Given the description of an element on the screen output the (x, y) to click on. 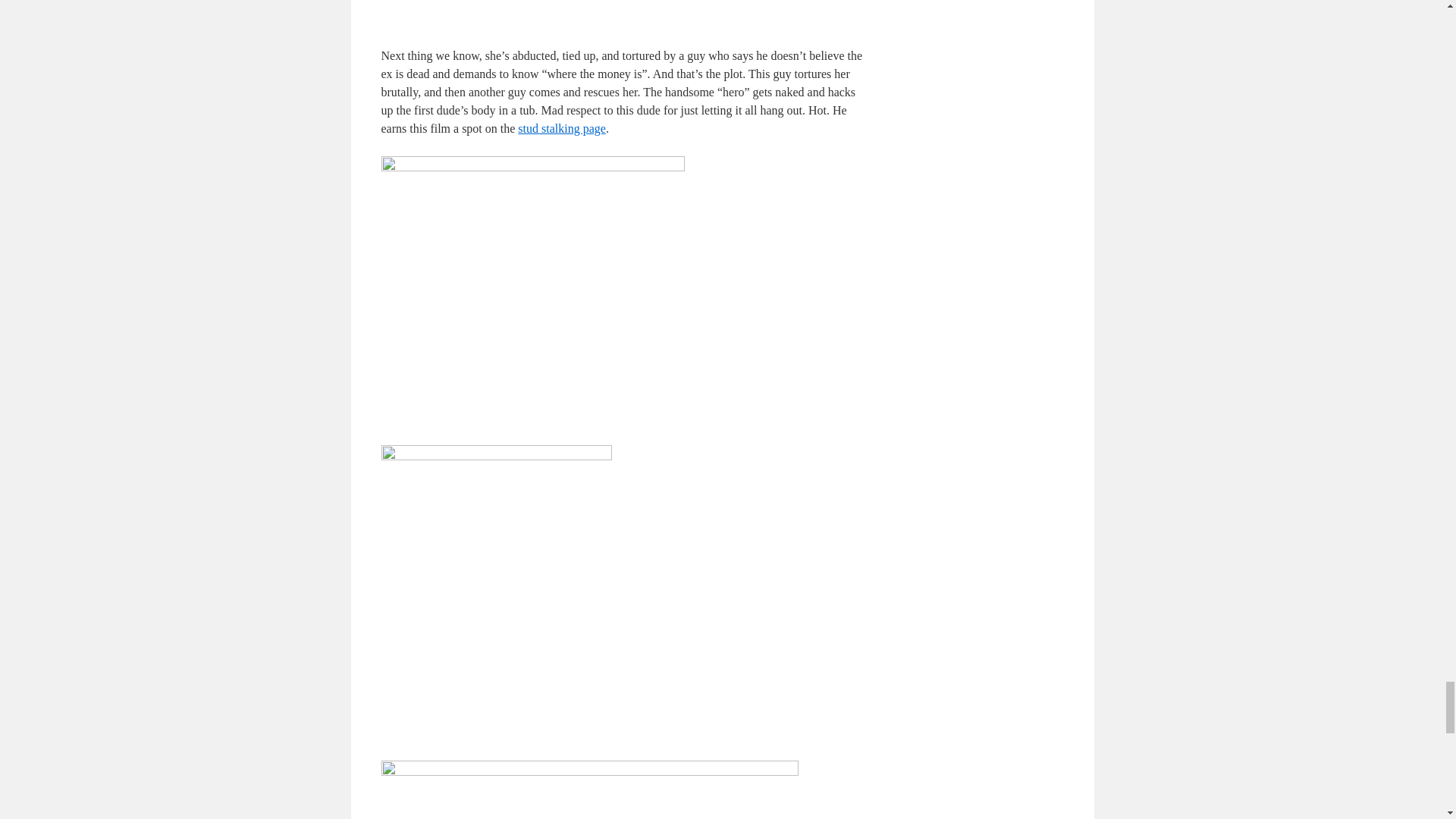
stud stalking page (561, 128)
